Given the description of an element on the screen output the (x, y) to click on. 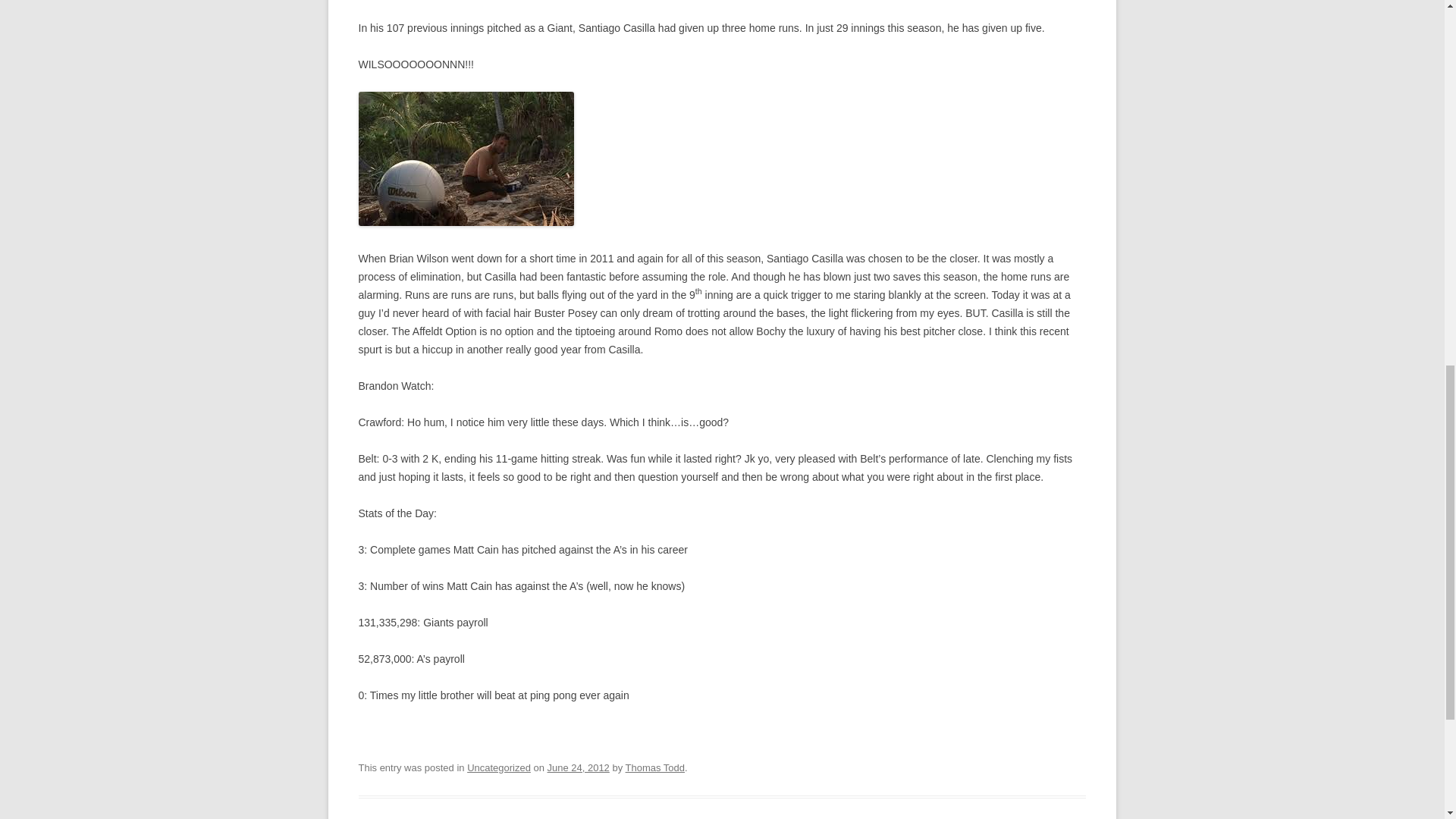
5:28 pm (578, 767)
View all posts by Thomas Todd (655, 767)
June 24, 2012 (578, 767)
Uncategorized (499, 767)
Thomas Todd (655, 767)
WILSON (465, 158)
